Given the description of an element on the screen output the (x, y) to click on. 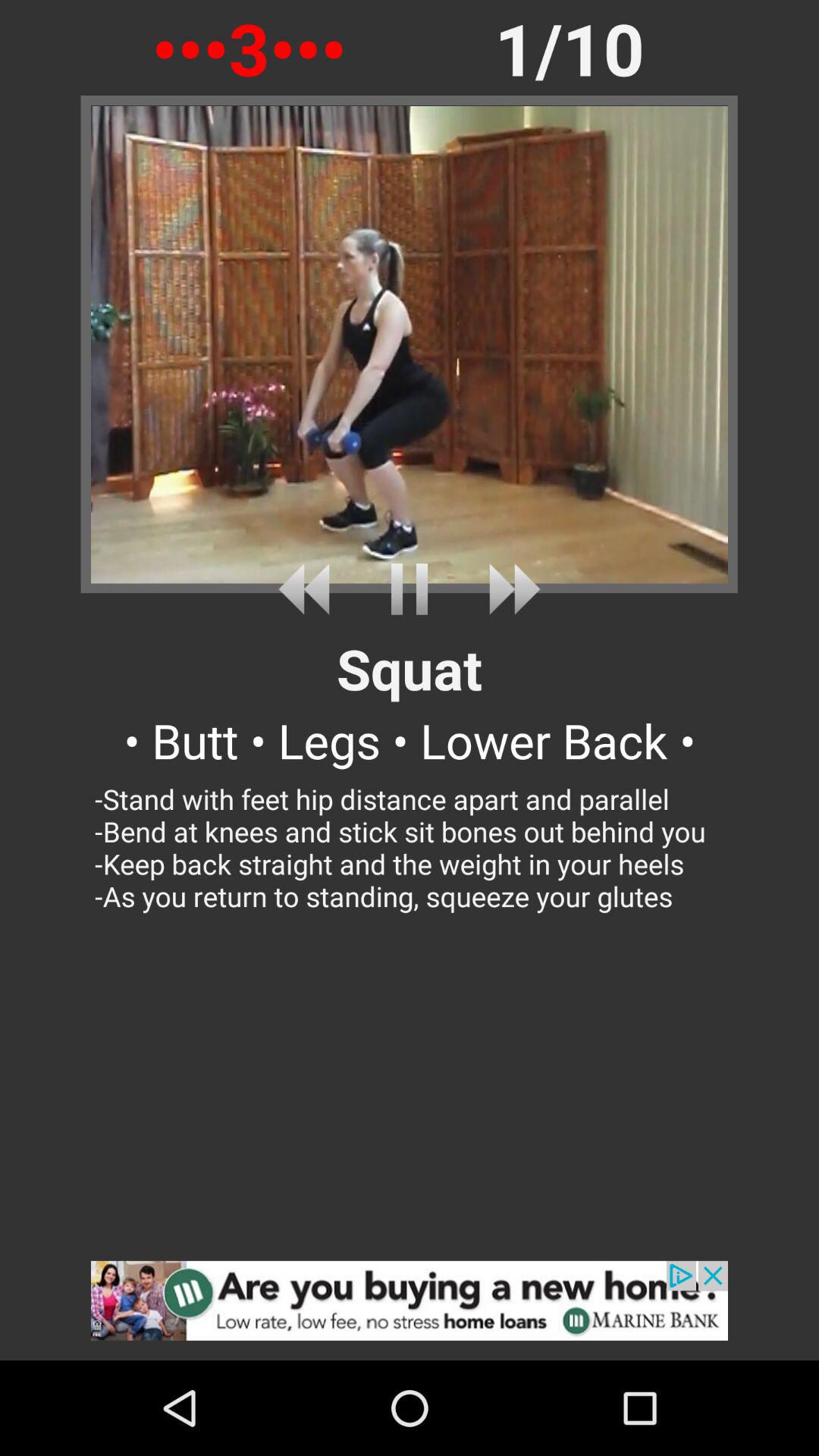
play (409, 589)
